Given the description of an element on the screen output the (x, y) to click on. 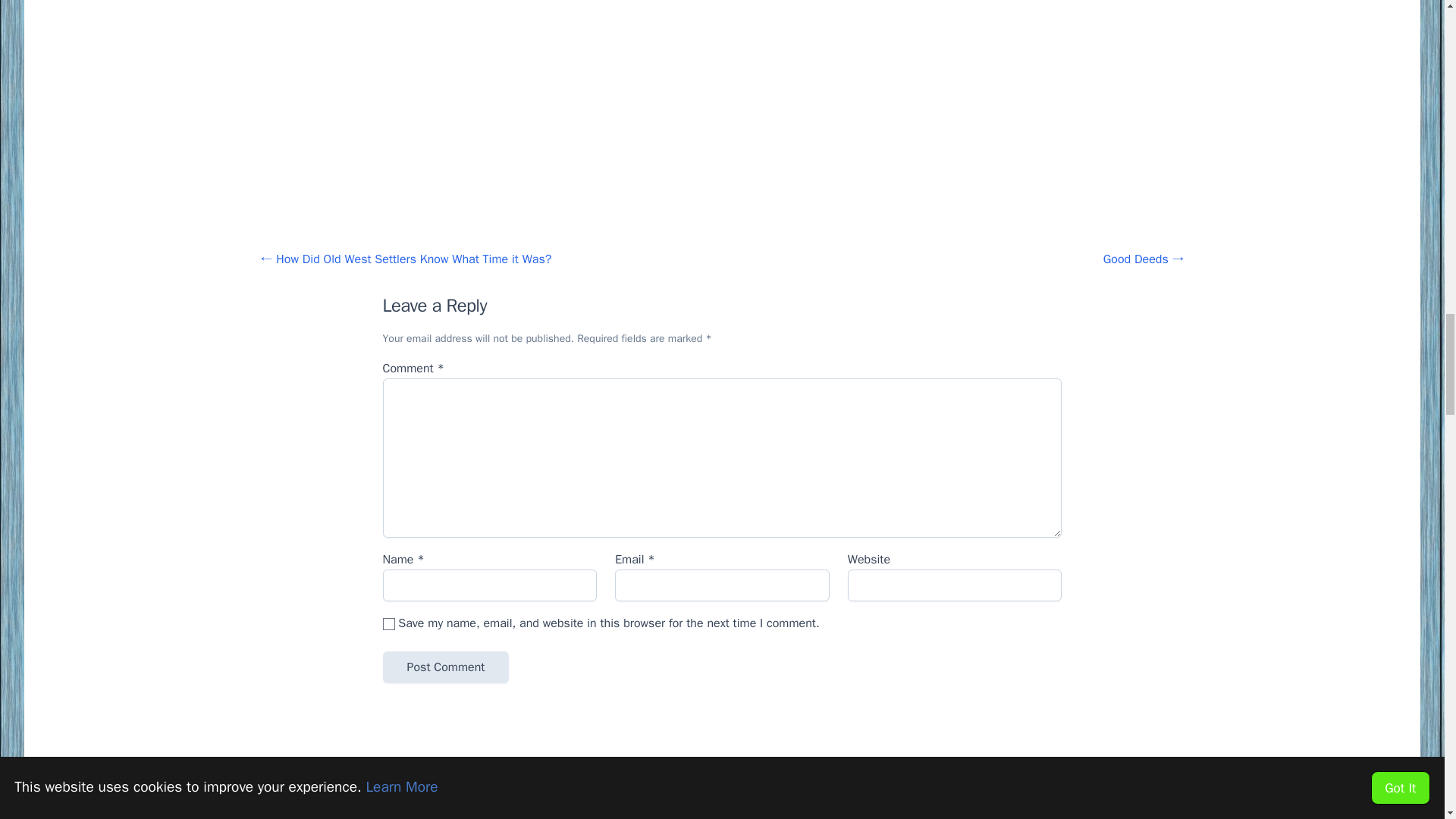
yes (387, 623)
Advertisement (721, 779)
Post Comment (444, 667)
